Given the description of an element on the screen output the (x, y) to click on. 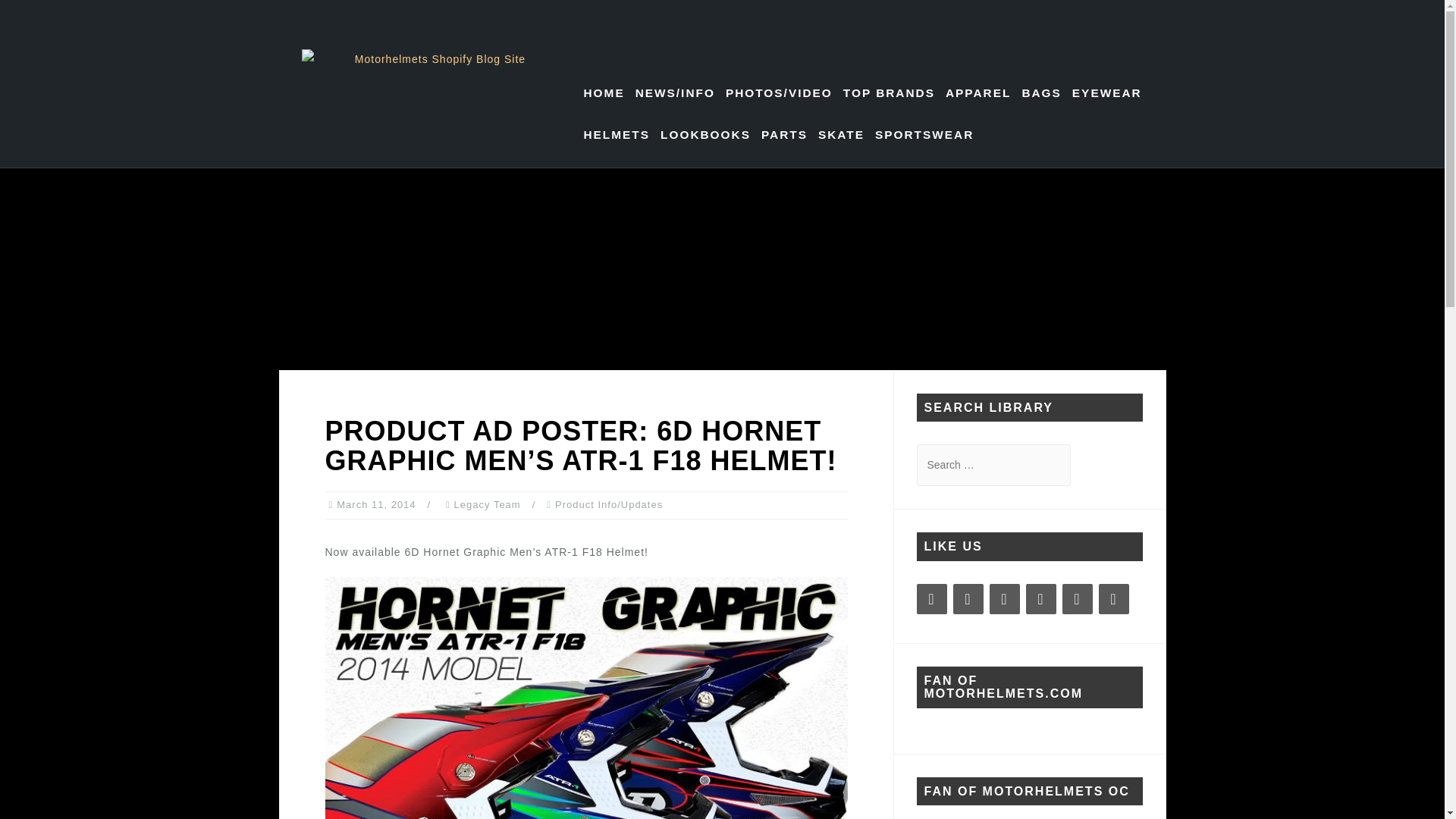
YouTube (1040, 598)
Facebook (930, 598)
Twitter (1076, 598)
Instagram (967, 598)
Yelp (1112, 598)
HOME (603, 92)
TOP BRANDS (888, 92)
